Given the description of an element on the screen output the (x, y) to click on. 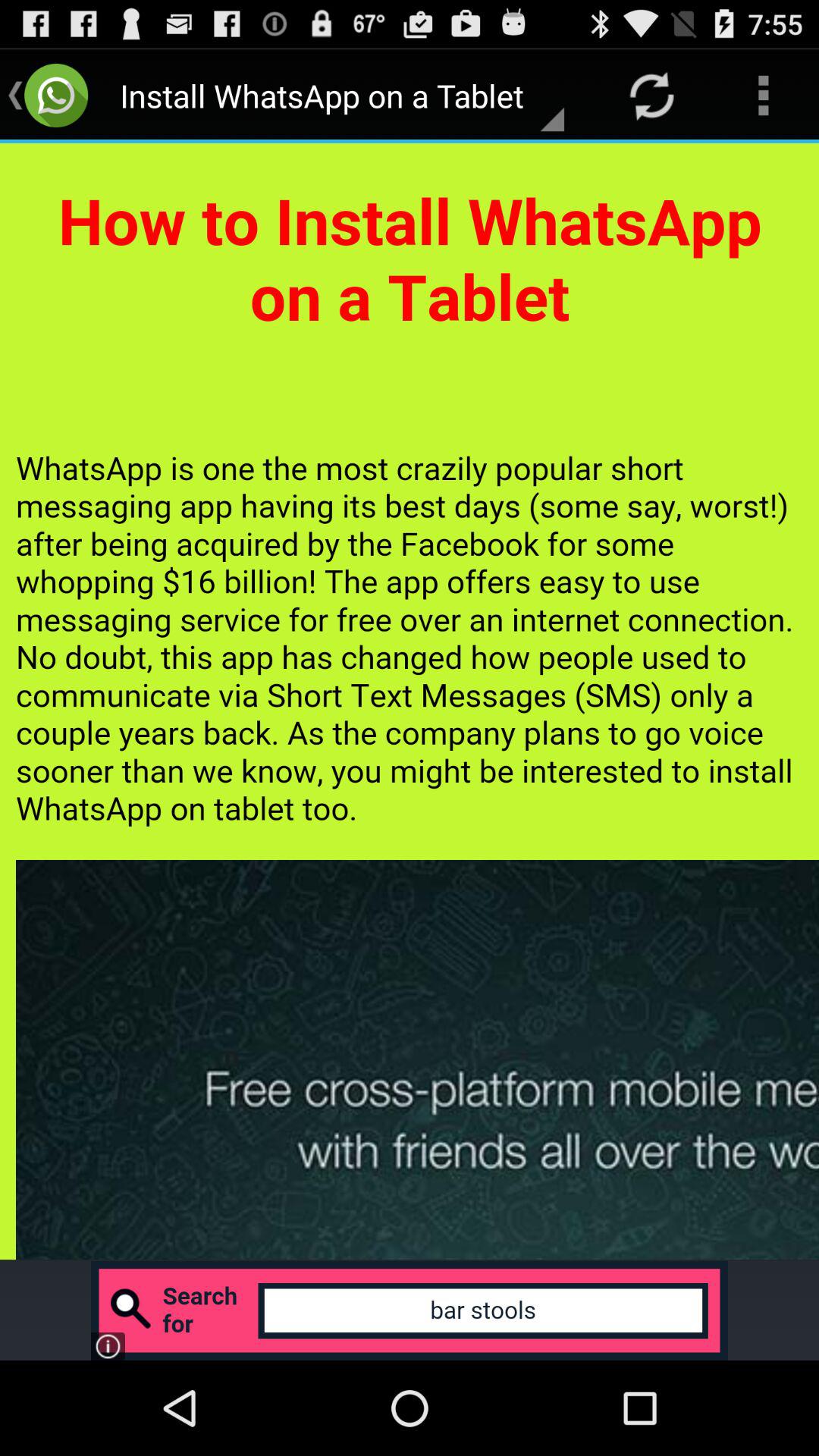
advertisement (409, 1310)
